Given the description of an element on the screen output the (x, y) to click on. 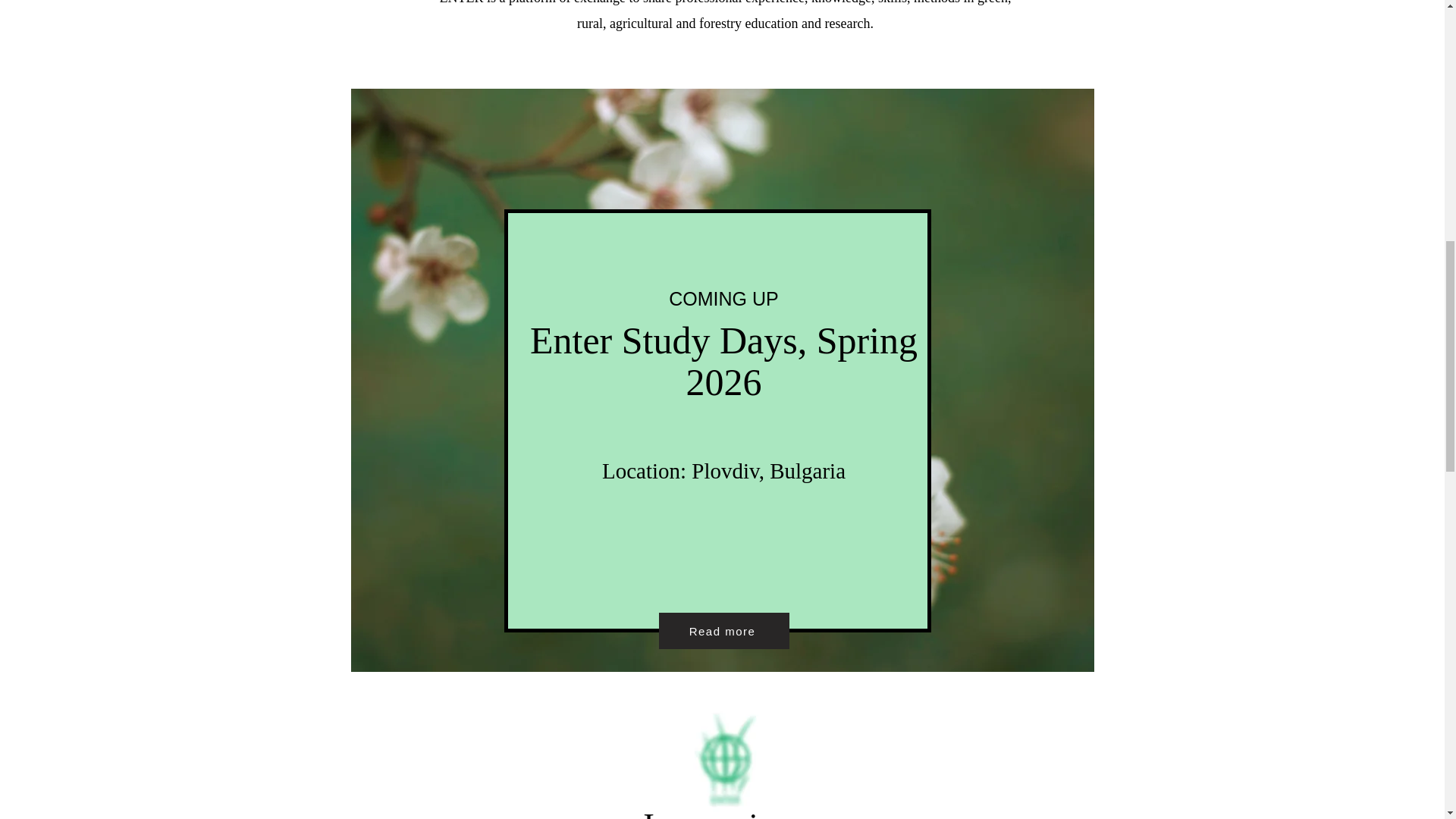
Read more (723, 630)
